Given the description of an element on the screen output the (x, y) to click on. 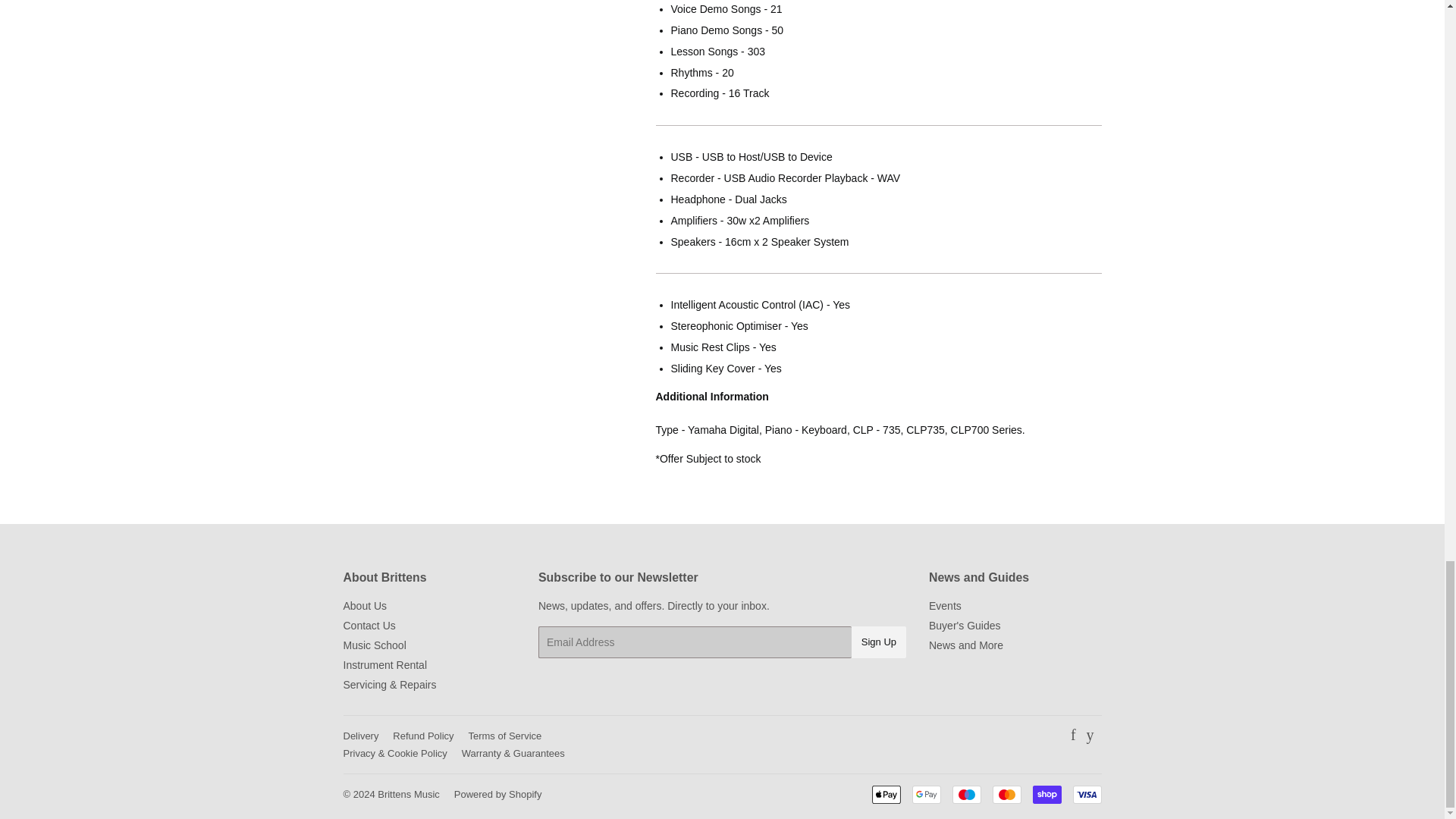
Google Pay (925, 794)
Maestro (966, 794)
Mastercard (1005, 794)
Visa (1085, 794)
Apple Pay (886, 794)
Shop Pay (1046, 794)
